Given the description of an element on the screen output the (x, y) to click on. 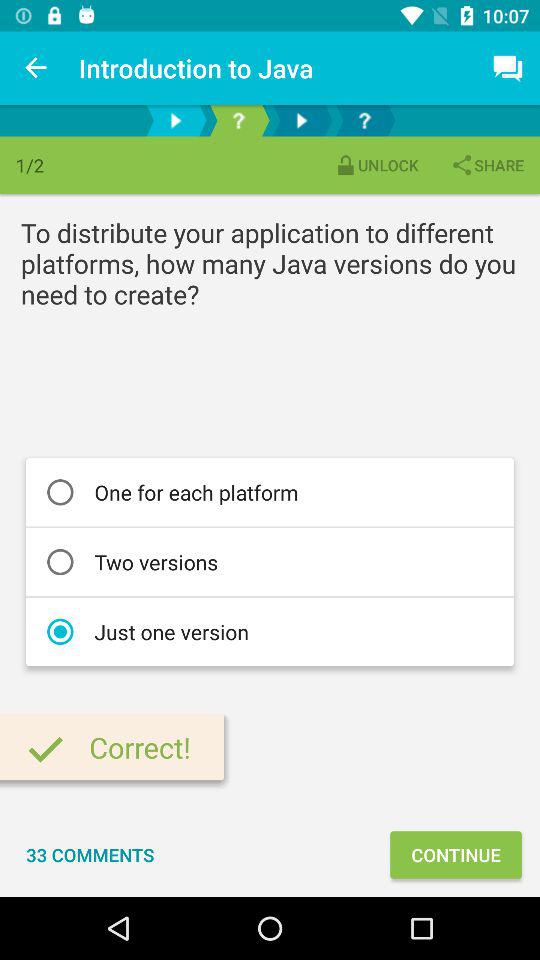
advance to next page (175, 120)
